Given the description of an element on the screen output the (x, y) to click on. 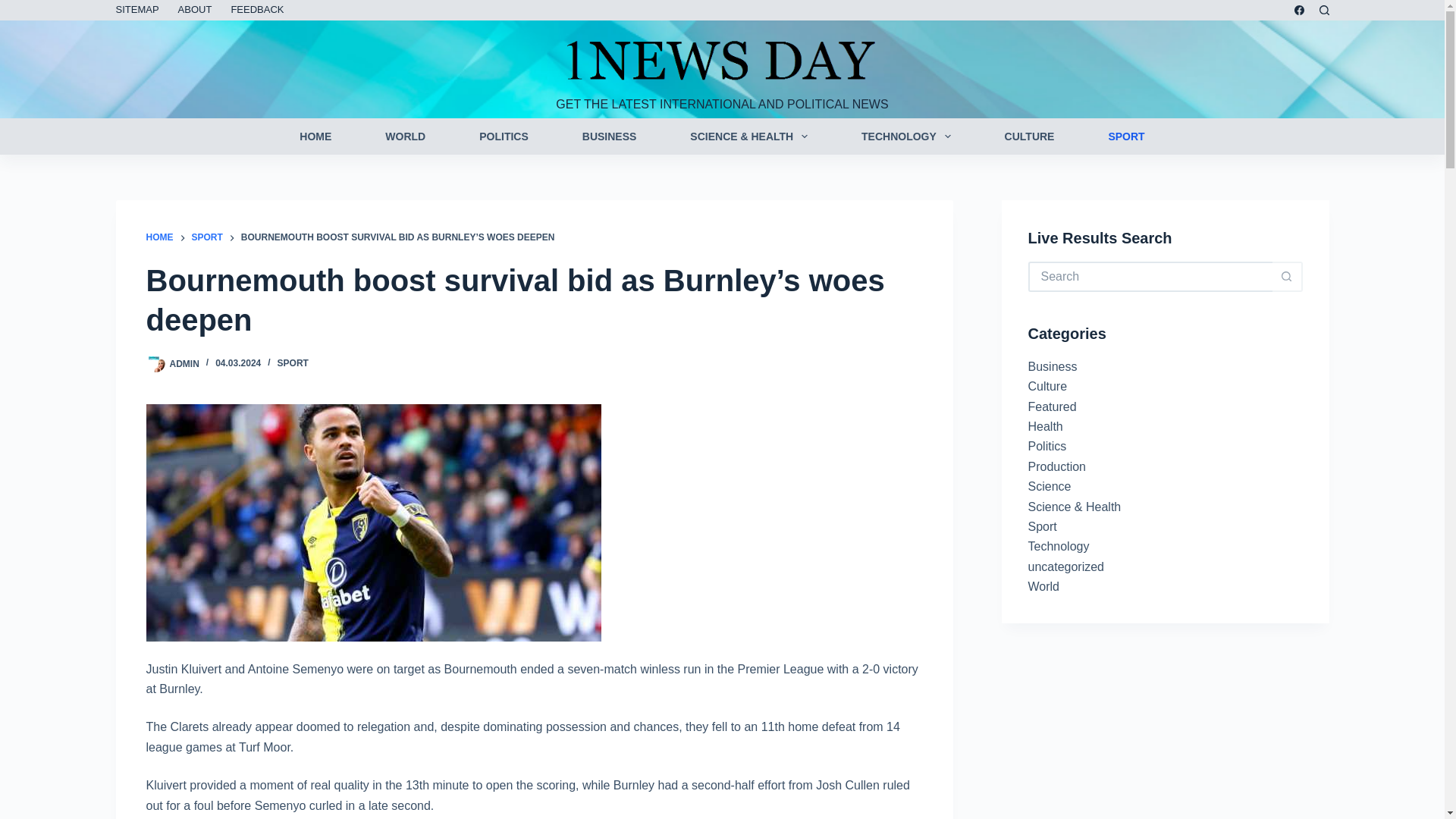
FEEDBACK (257, 10)
TECHNOLOGY (906, 135)
BUSINESS (608, 135)
WORLD (405, 135)
SPORT (1126, 135)
HOME (159, 237)
SITEMAP (141, 10)
Posts by admin (184, 362)
SPORT (206, 237)
Skip to content (15, 7)
